Given the description of an element on the screen output the (x, y) to click on. 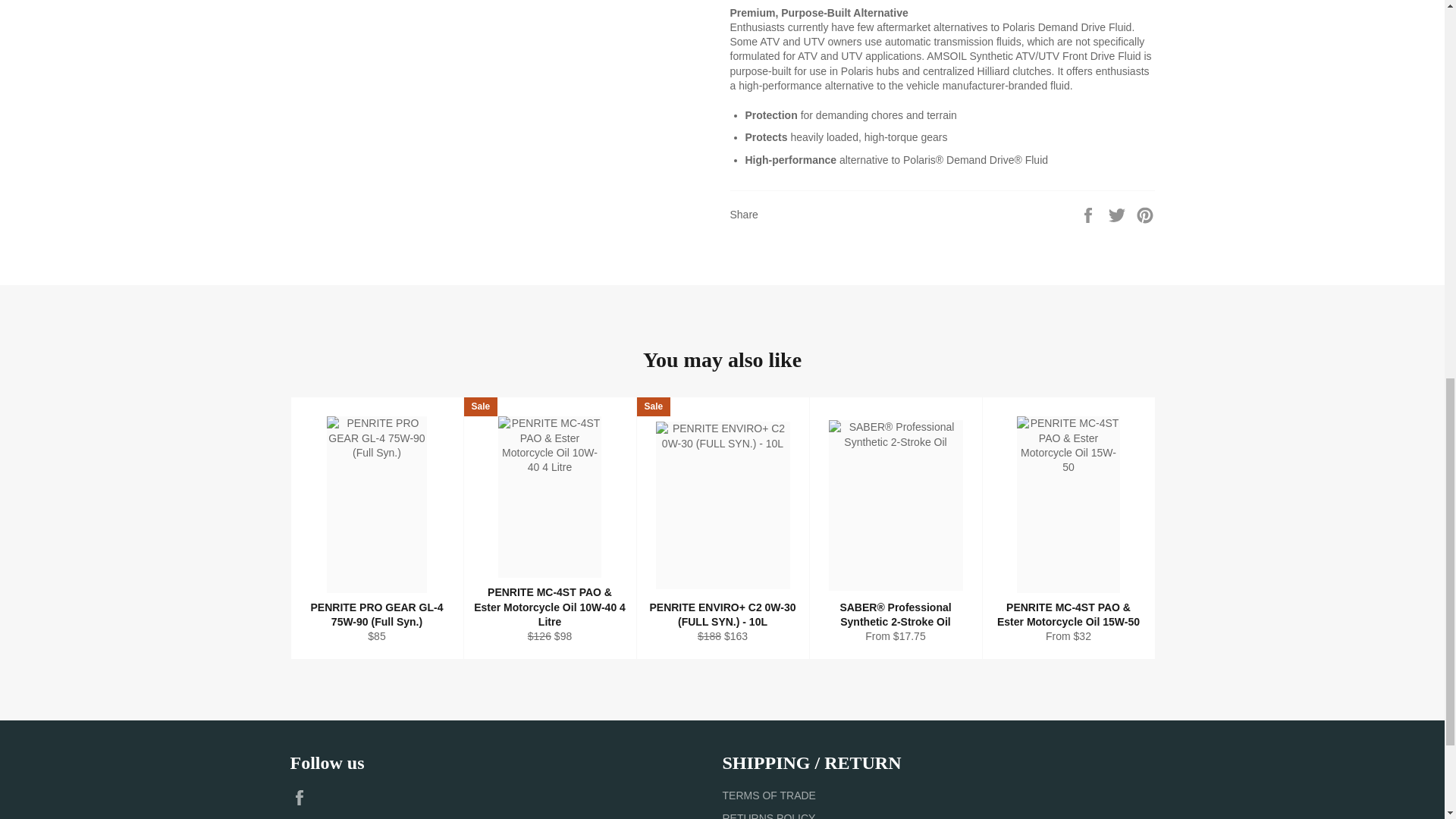
Premium Parts NZ on Facebook (302, 797)
Tweet on Twitter (1118, 214)
Share on Facebook (1089, 214)
Pin on Pinterest (1144, 214)
